Given the description of an element on the screen output the (x, y) to click on. 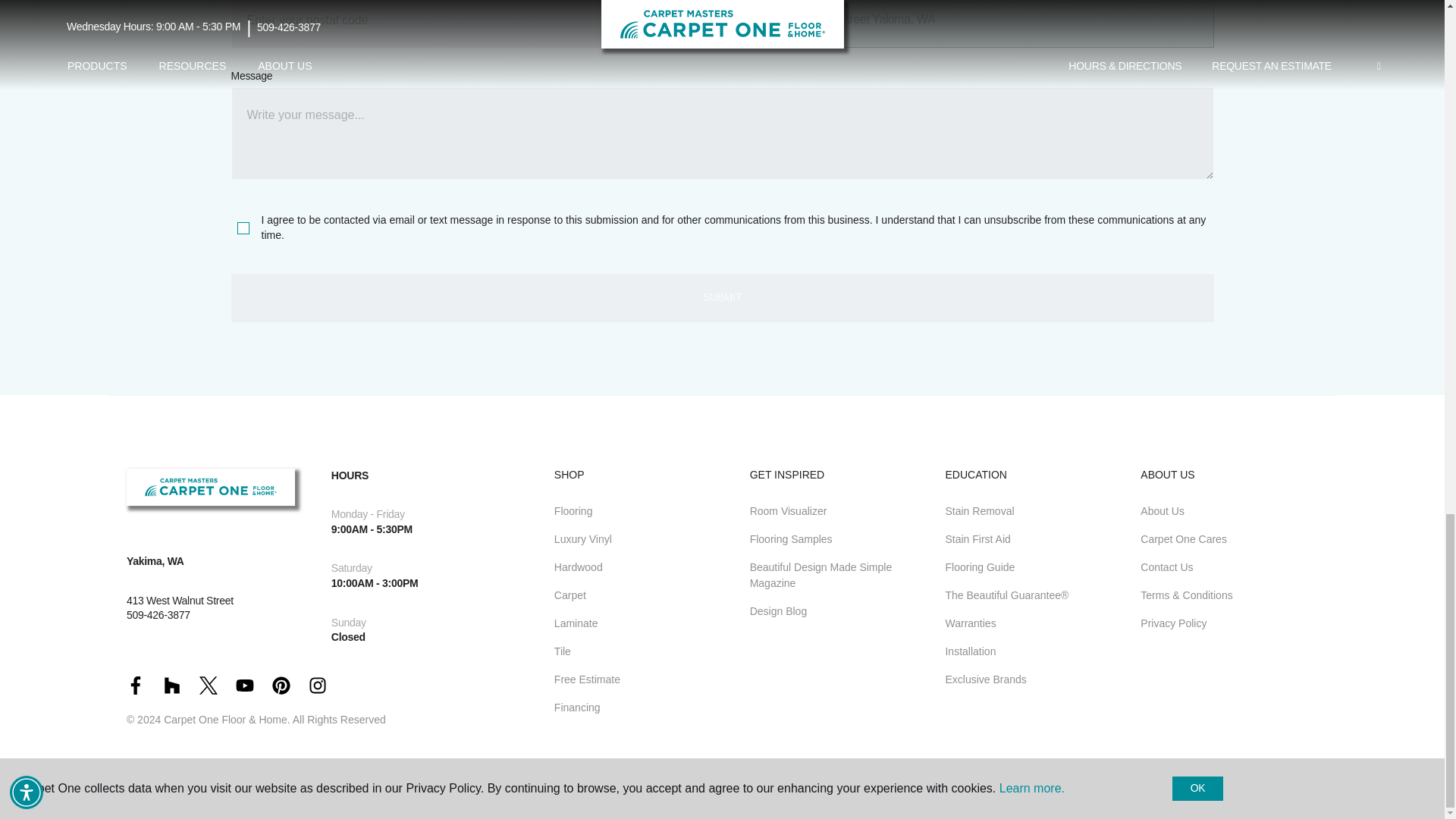
MyMessage (721, 132)
PostalCode (471, 24)
